Given the description of an element on the screen output the (x, y) to click on. 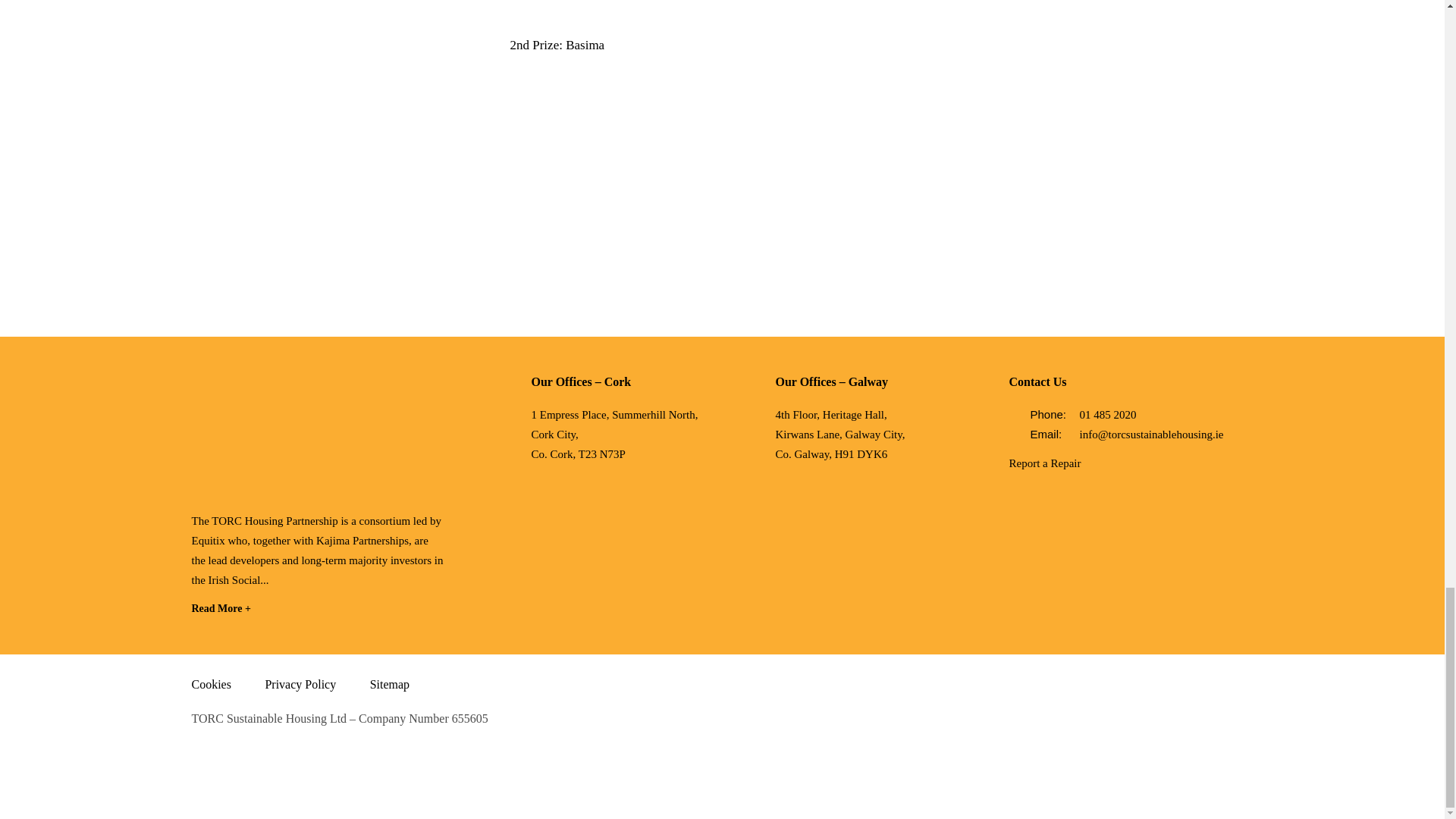
Social (1136, 509)
Social (1122, 492)
Digital Sales (1199, 739)
Torcsustainablehousing (304, 431)
